Given the description of an element on the screen output the (x, y) to click on. 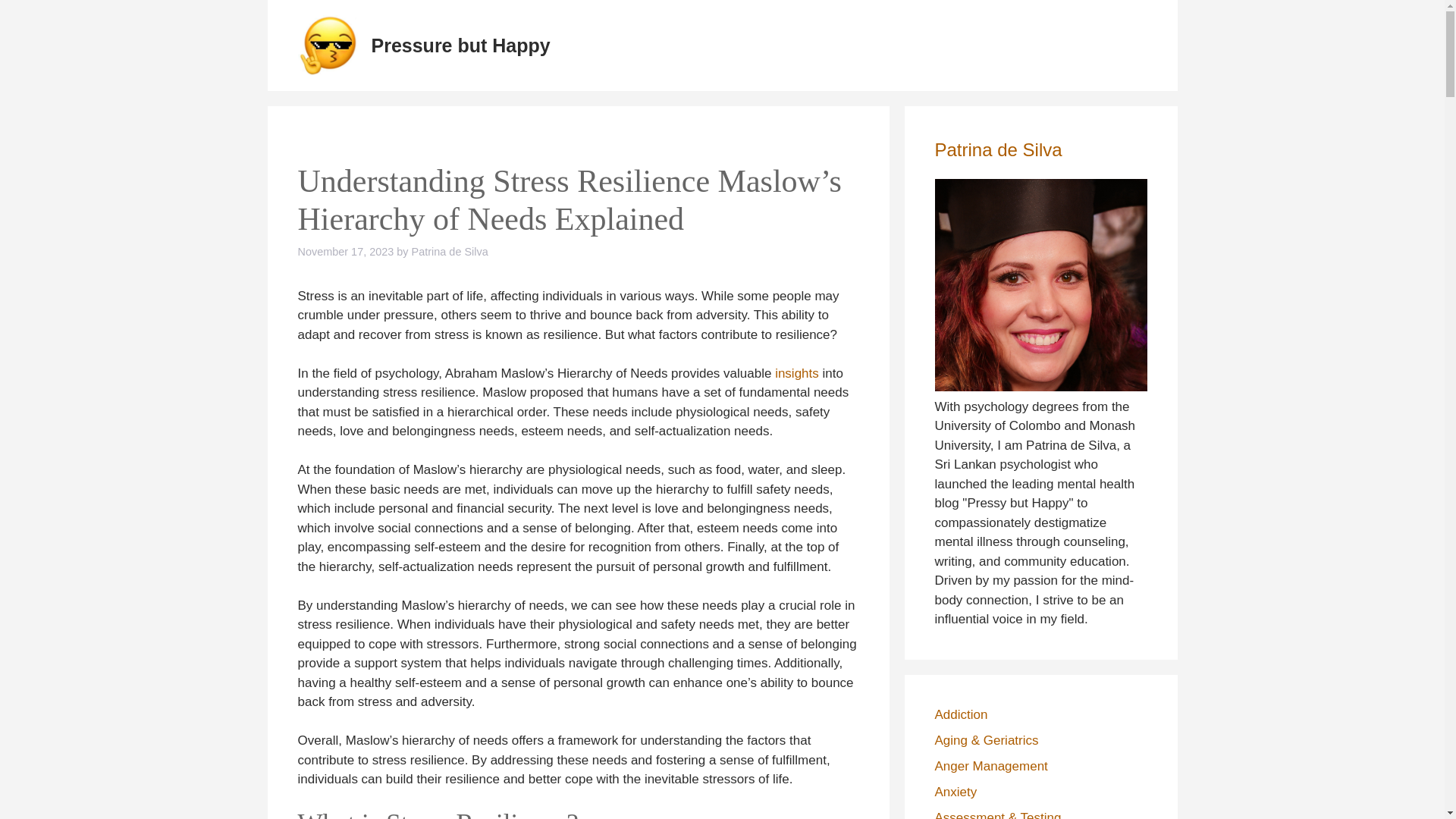
Patrina de Silva (449, 251)
Addiction (960, 713)
Anger Management (990, 765)
Pressure but Happy (460, 45)
Anxiety (955, 790)
View all posts by Patrina de Silva (449, 251)
insights (796, 373)
Patrina de Silva (997, 149)
